Given the description of an element on the screen output the (x, y) to click on. 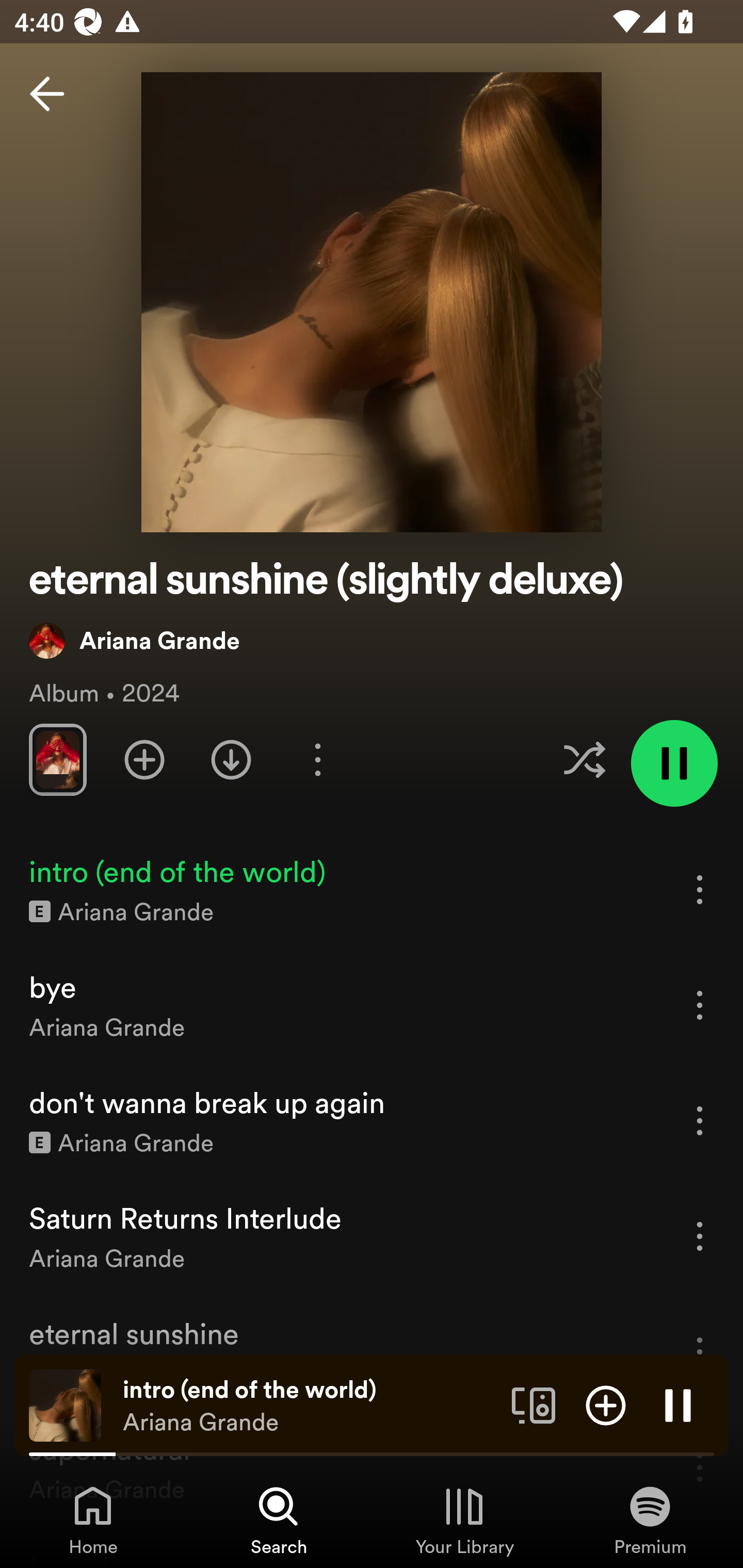
Back (46, 93)
Ariana Grande (133, 640)
Swipe through previews of tracks from this album. (57, 759)
Add playlist to Your Library (144, 759)
Download (230, 759)
Enable shuffle for this playlist (583, 759)
Pause playlist (674, 763)
More options for song intro (end of the world) (699, 889)
bye Ariana Grande More options for song bye (371, 1005)
More options for song bye (699, 1004)
More options for song don't wanna break up again (699, 1120)
More options for song Saturn Returns Interlude (699, 1236)
intro (end of the world) Ariana Grande (309, 1405)
The cover art of the currently playing track (64, 1404)
Connect to a device. Opens the devices menu (533, 1404)
Add item (605, 1404)
Pause (677, 1404)
Home, Tab 1 of 4 Home Home (92, 1519)
Search, Tab 2 of 4 Search Search (278, 1519)
Your Library, Tab 3 of 4 Your Library Your Library (464, 1519)
Premium, Tab 4 of 4 Premium Premium (650, 1519)
